Given the description of an element on the screen output the (x, y) to click on. 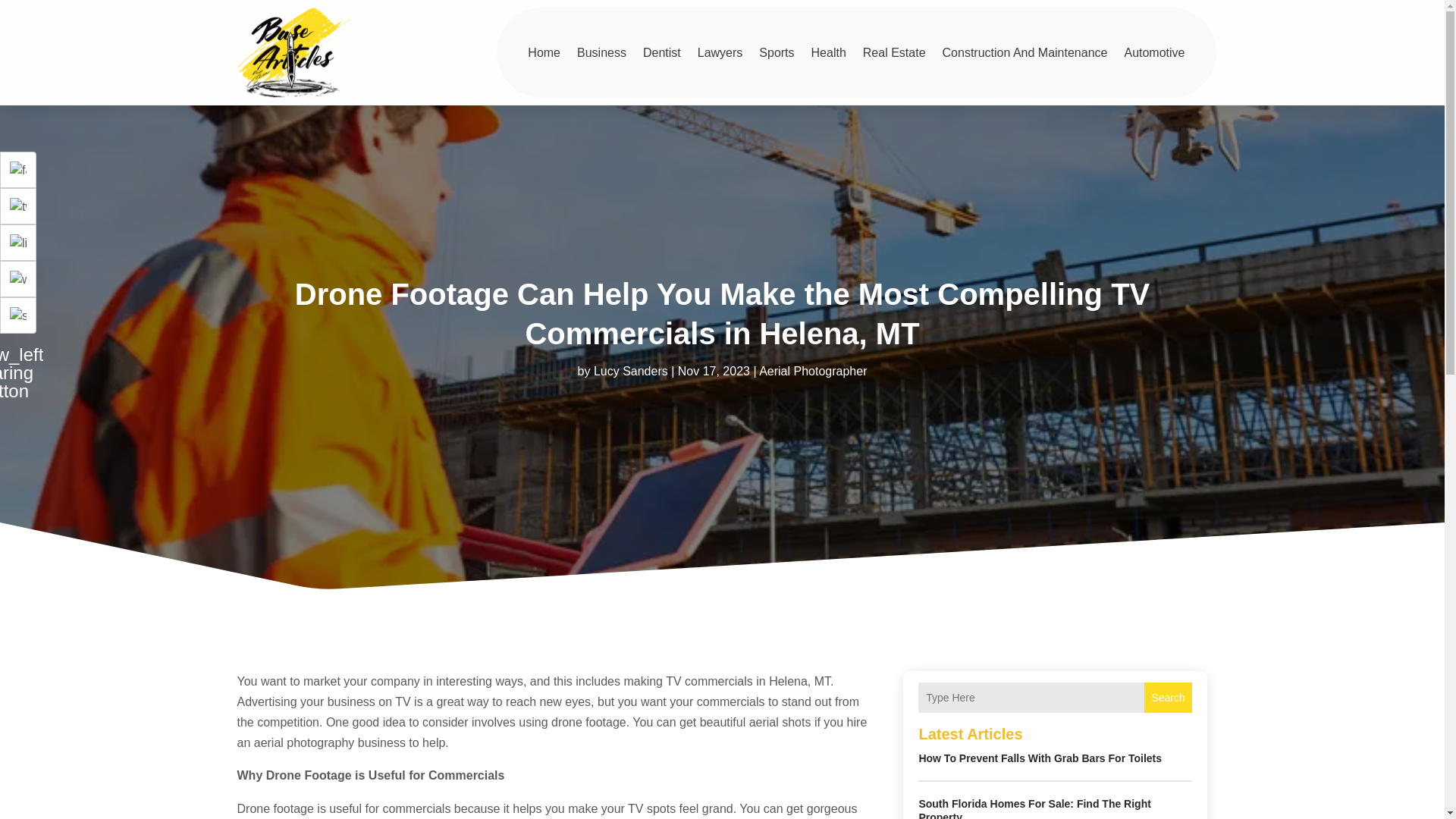
Posts by Lucy Sanders (631, 370)
Construction And Maintenance (1025, 52)
South Florida Homes For Sale: Find The Right Property (1034, 808)
How To Prevent Falls With Grab Bars For Toilets (1039, 758)
Aerial Photographer (812, 370)
Search (1168, 697)
Lucy Sanders (631, 370)
